Given the description of an element on the screen output the (x, y) to click on. 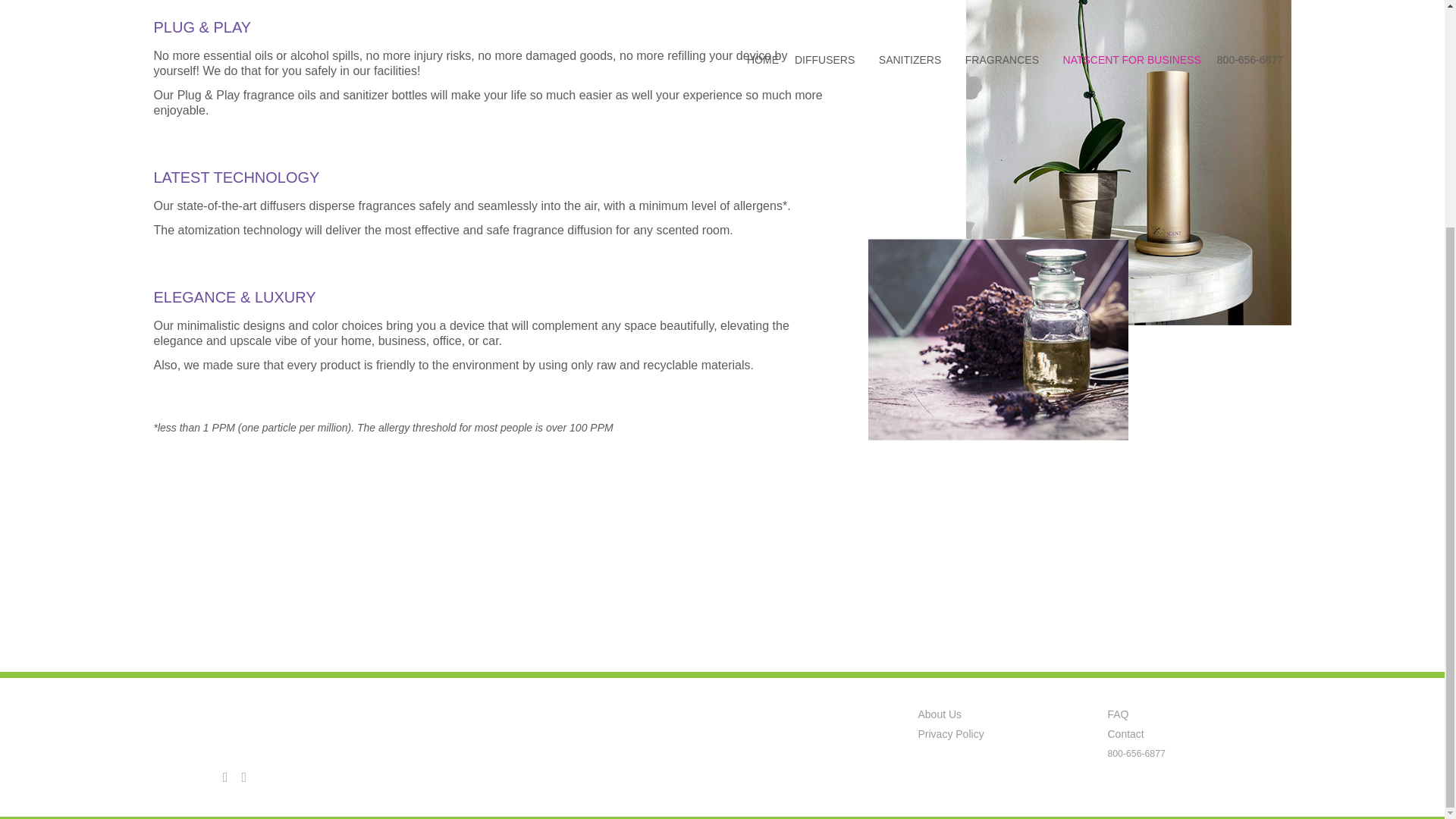
About Us (938, 714)
800-656-6877 (1135, 754)
Contact (1124, 735)
FAQ (1117, 714)
Privacy Policy (950, 735)
